Given the description of an element on the screen output the (x, y) to click on. 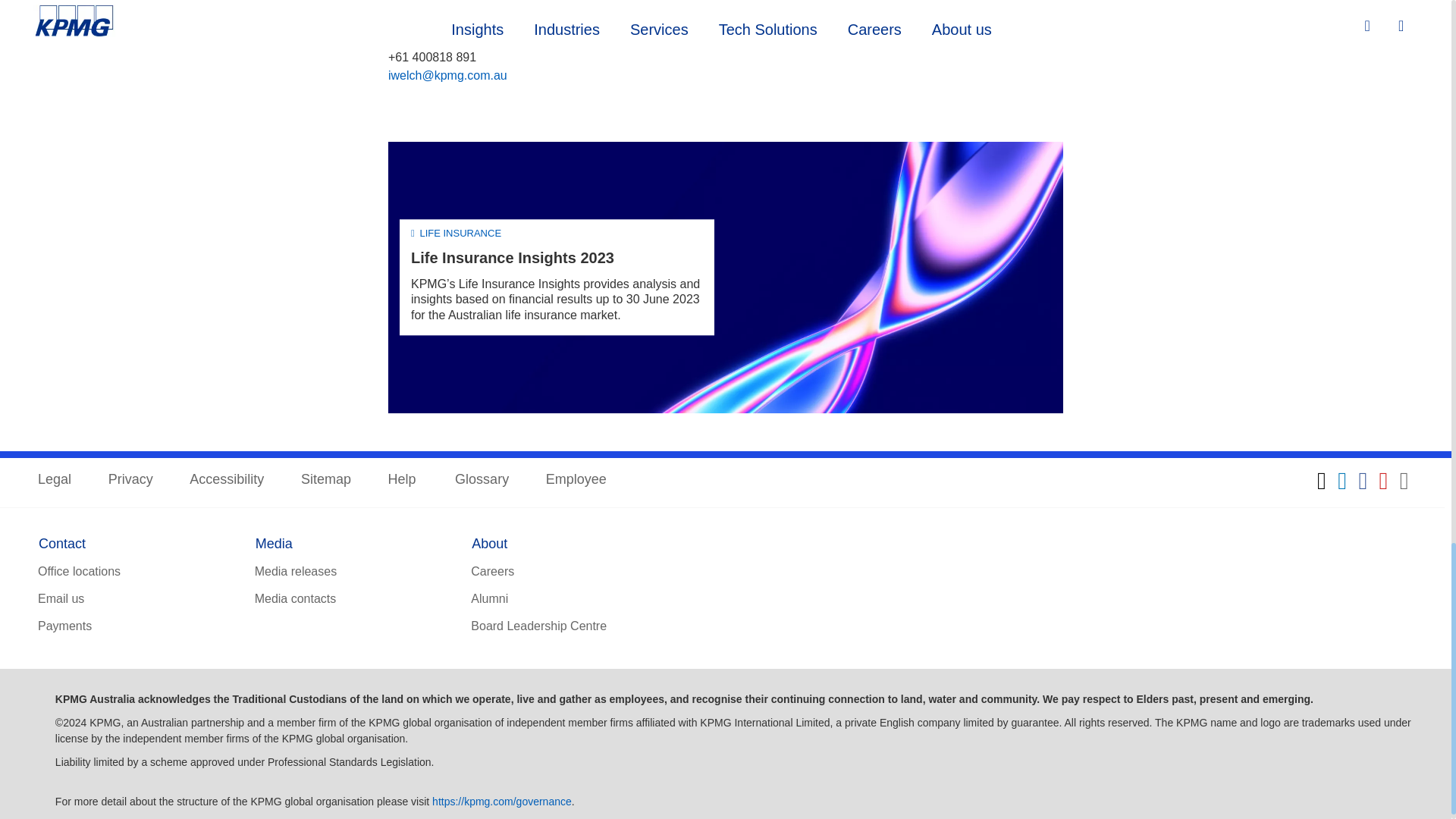
Glossary (481, 479)
Accessibility (226, 479)
Sitemap (325, 479)
Employee (576, 479)
Help (403, 479)
Privacy (129, 479)
Legal (54, 479)
